Given the description of an element on the screen output the (x, y) to click on. 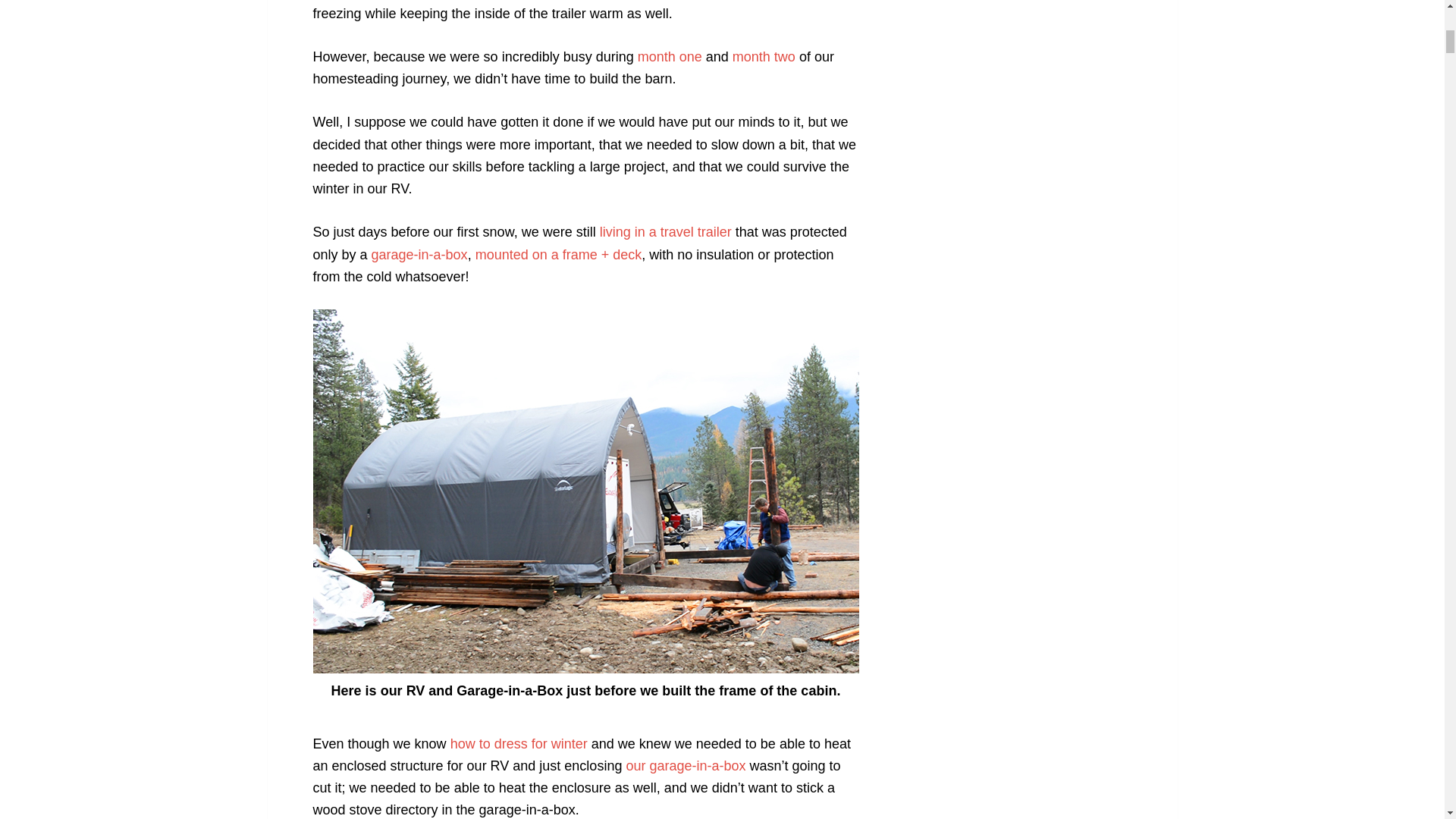
month one (669, 56)
living in a travel trailer (665, 231)
garage-in-a-box (419, 254)
month two (763, 56)
our garage-in-a-box (685, 765)
how to dress for winter (518, 743)
